Given the description of an element on the screen output the (x, y) to click on. 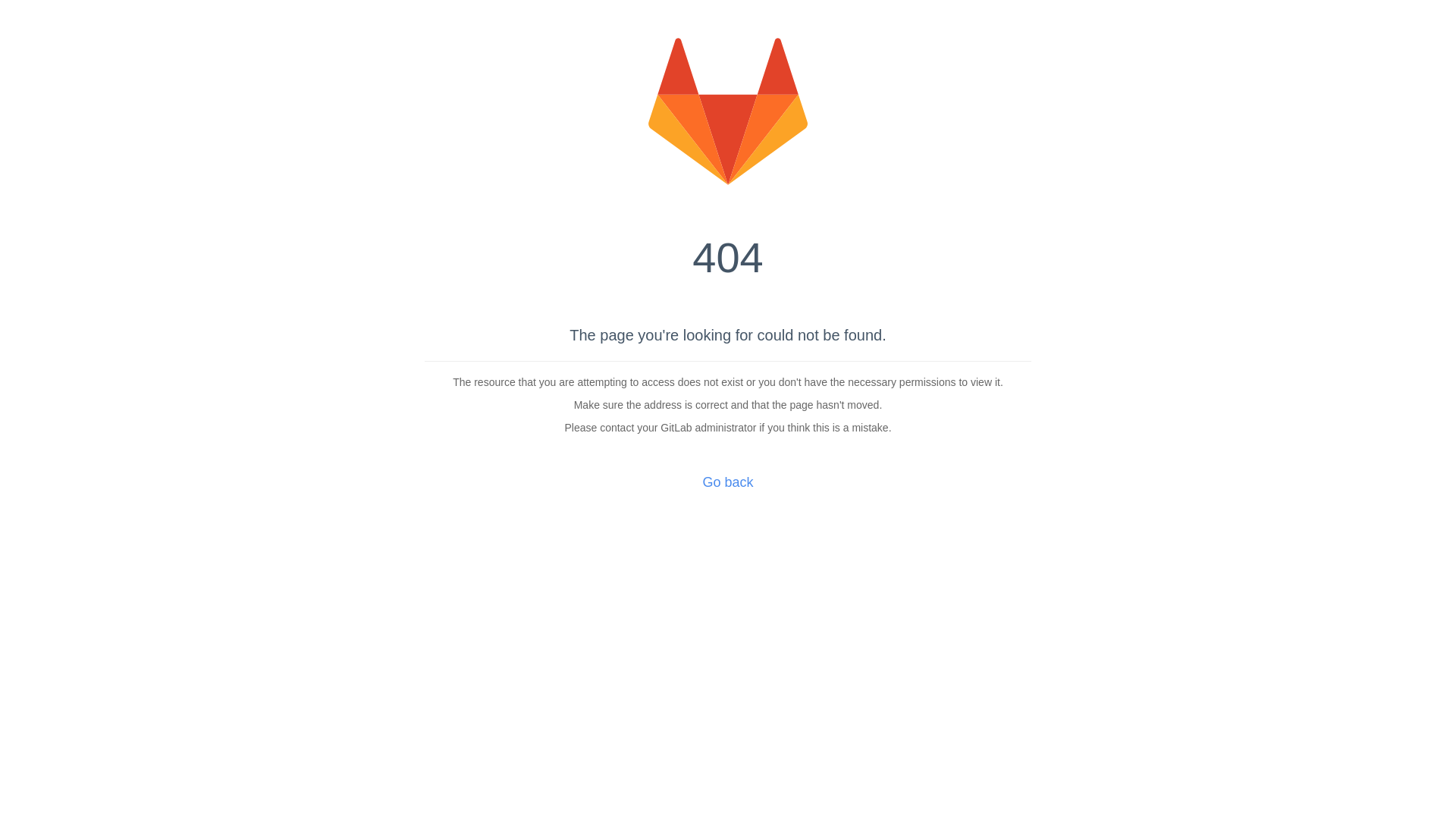
Go back Element type: text (727, 481)
